Given the description of an element on the screen output the (x, y) to click on. 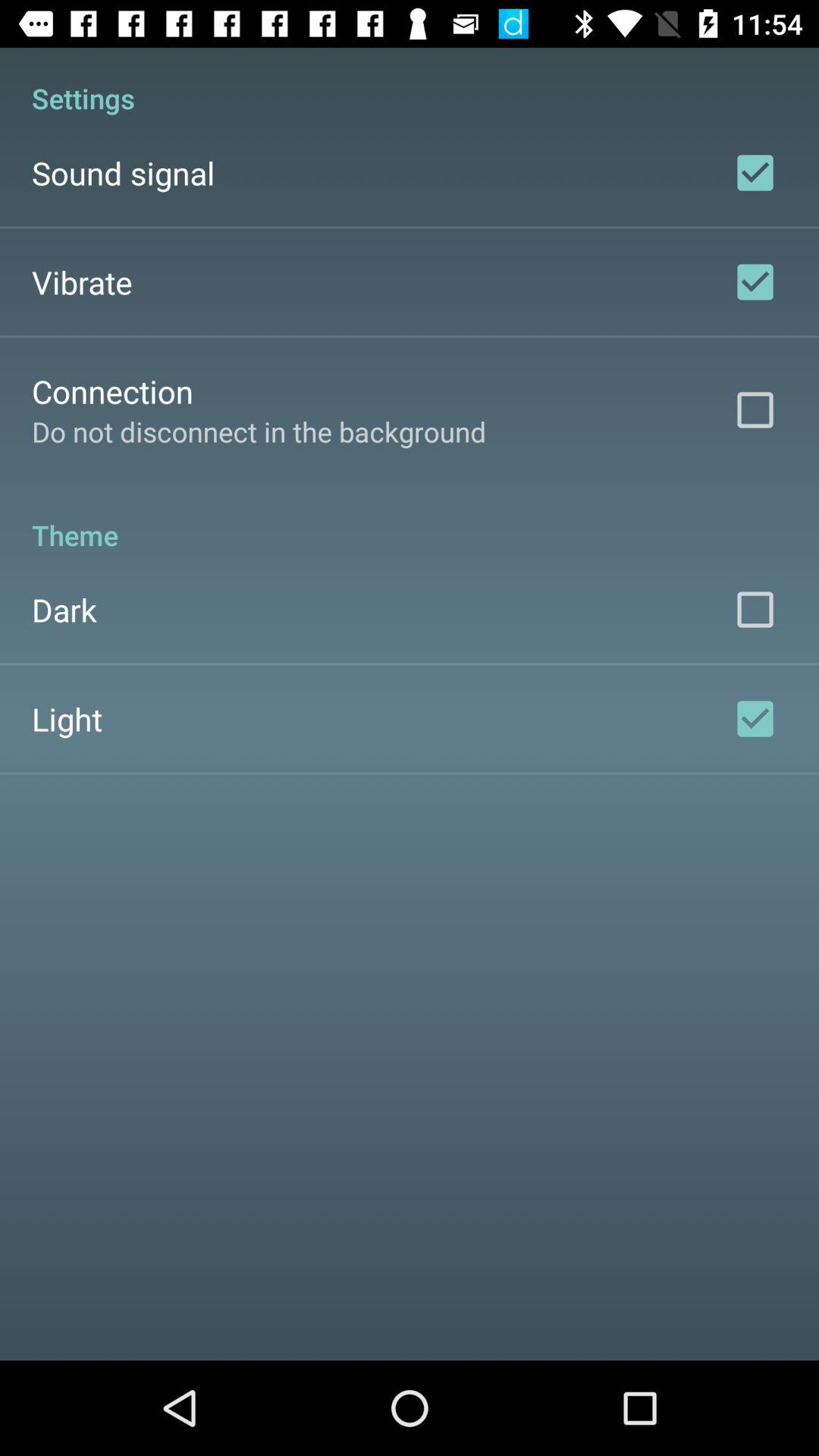
tap item below sound signal item (81, 281)
